Given the description of an element on the screen output the (x, y) to click on. 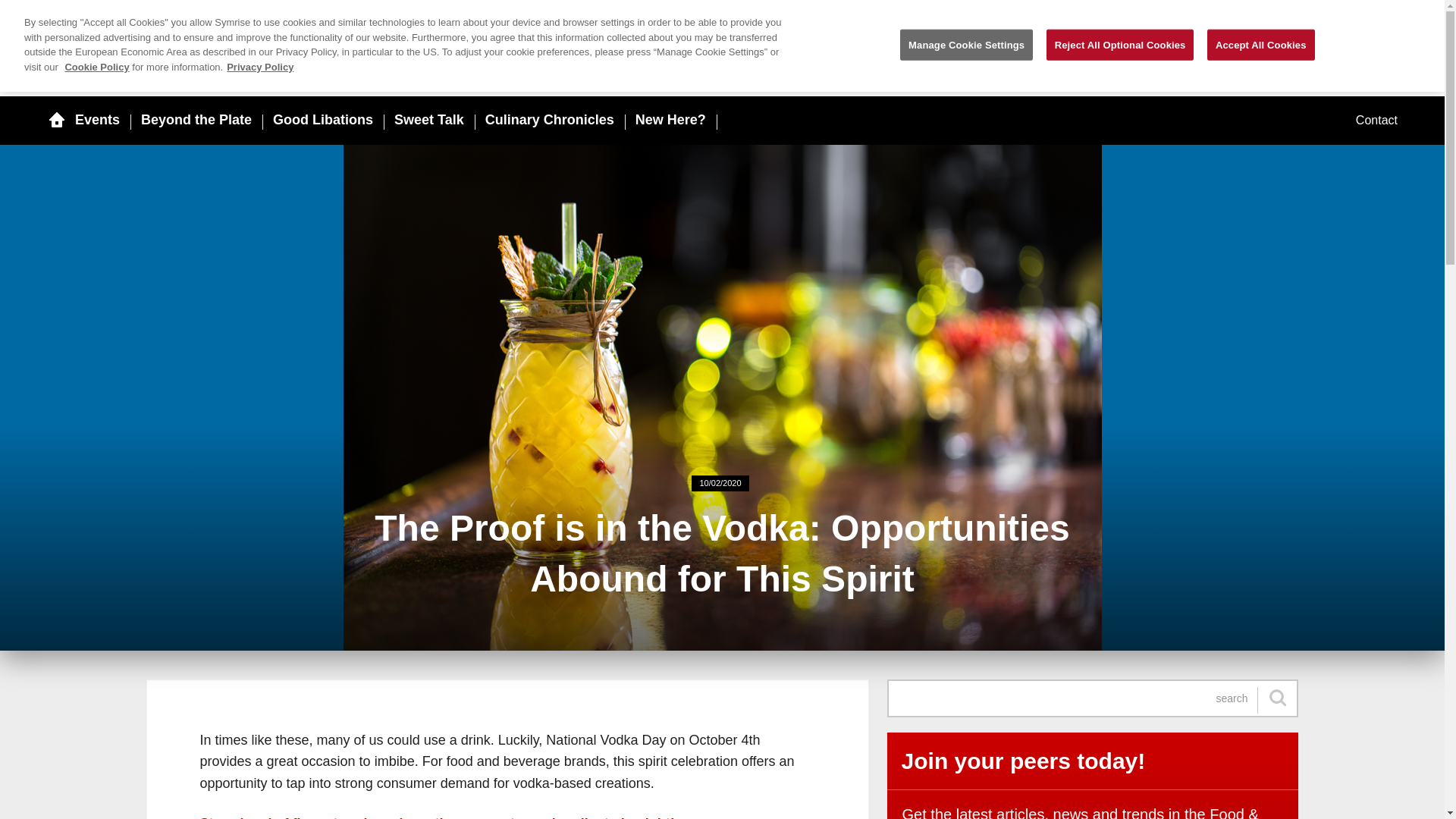
Beyond the Plate (196, 120)
Home (151, 39)
Culinary Chronicles (549, 120)
New Here? (670, 120)
Contact (1376, 120)
Good Libations (323, 120)
Home (56, 119)
Events (97, 120)
Events (97, 120)
Symrise (1296, 37)
Sweet Talk (429, 120)
New Here? (670, 120)
Sweet Talk (429, 120)
Culinary Chronicles (549, 120)
Good Libations (323, 120)
